Given the description of an element on the screen output the (x, y) to click on. 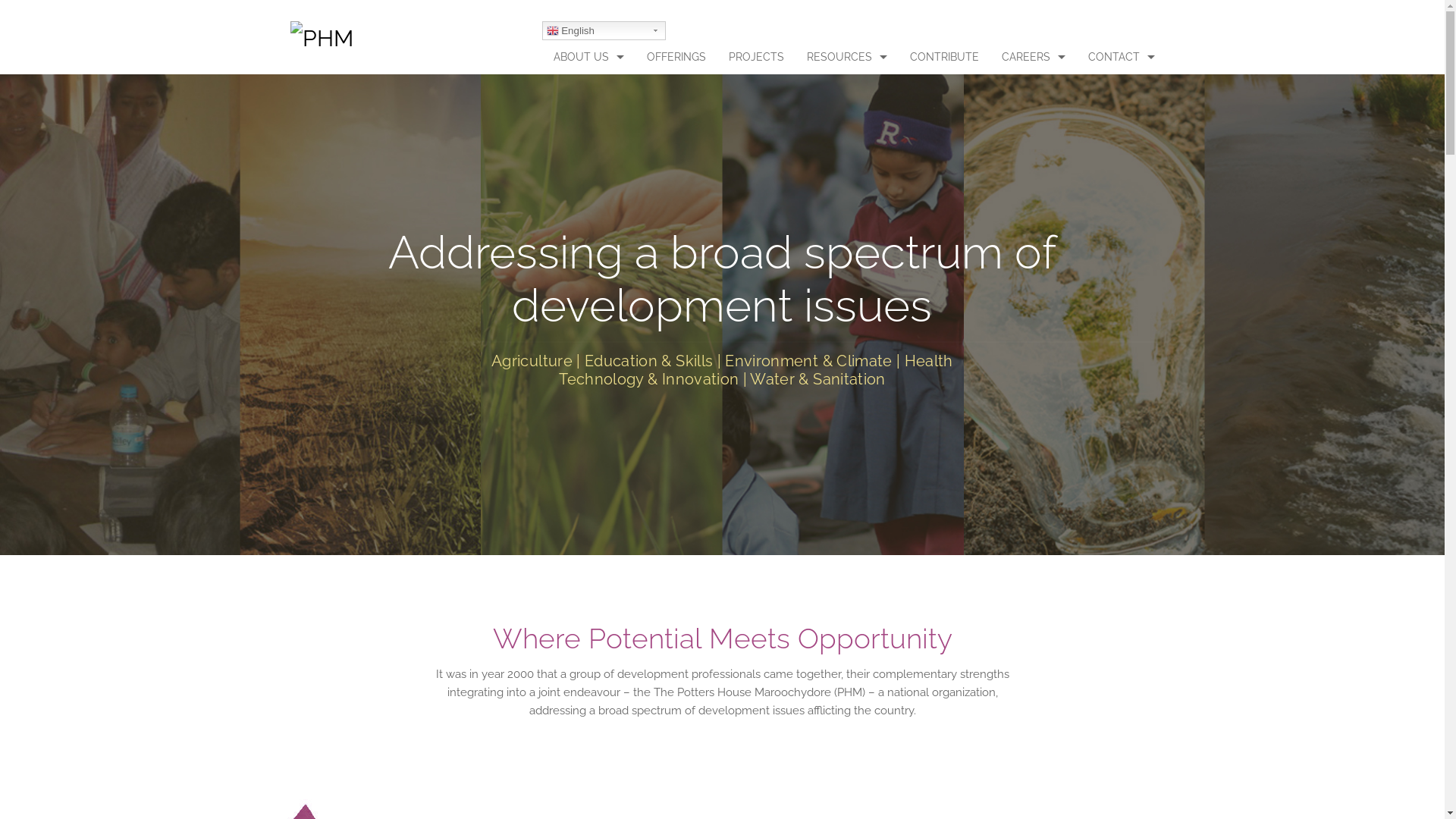
OFFERINGS Element type: text (676, 57)
BOARD OF DIRECTORS Element type: text (587, 125)
PUBLICATIONS Element type: text (845, 91)
BLOG Element type: text (845, 125)
ANNUAL REPORTS Element type: text (587, 193)
English Element type: text (603, 30)
CONTACT Element type: text (1121, 57)
ABOUT US Element type: text (587, 57)
POLICIES Element type: text (587, 261)
EMPLOYMENT Element type: text (1033, 91)
RESOURCES Element type: text (845, 57)
PROJECTS Element type: text (756, 57)
FINANCIAL REPORTS Element type: text (587, 227)
WHO WE ARE Element type: text (587, 91)
REACH US Element type: text (1121, 91)
Home Element type: hover (321, 41)
FUNDING Element type: text (587, 296)
NETWORK PARTNERS Element type: text (587, 159)
INTERNSHIP Element type: text (1033, 125)
CONTRIBUTE Element type: text (943, 57)
CAREERS Element type: text (1033, 57)
